Given the description of an element on the screen output the (x, y) to click on. 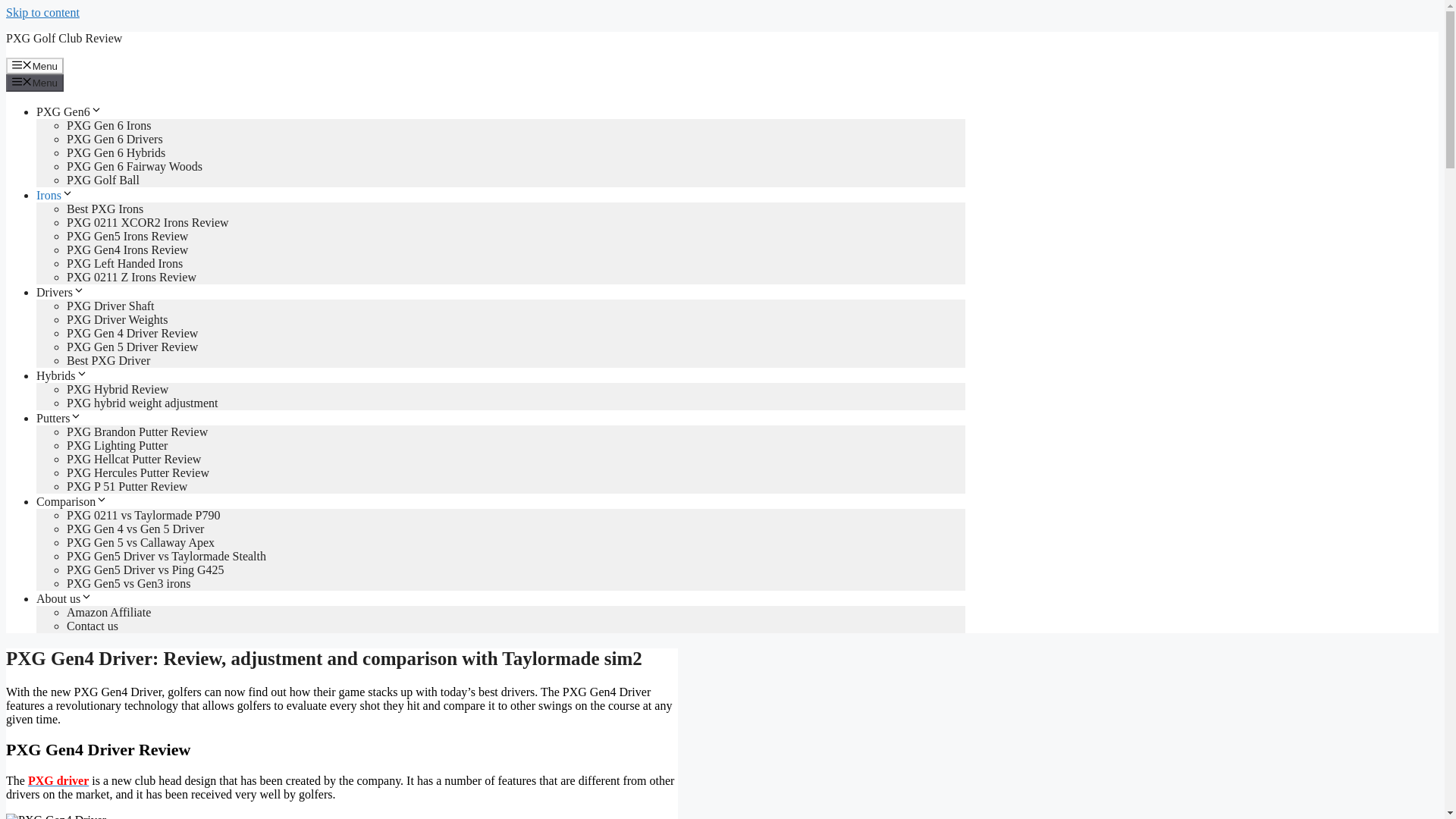
About us (64, 598)
PXG Gen 4 Driver Review (132, 332)
Best PXG Irons (104, 208)
PXG Hercules Putter Review (137, 472)
PXG Hellcat Putter Review (133, 459)
PXG Gen5 vs Gen3 irons (128, 583)
Skip to content (42, 11)
Skip to content (42, 11)
PXG Driver Weights (117, 318)
PXG 0211 Z Irons Review (131, 277)
PXG Golf Club Review (63, 38)
PXG P 51 Putter Review (126, 486)
Drivers (60, 291)
PXG Left Handed Irons (124, 263)
PXG 0211 XCOR2 Irons Review (147, 222)
